Given the description of an element on the screen output the (x, y) to click on. 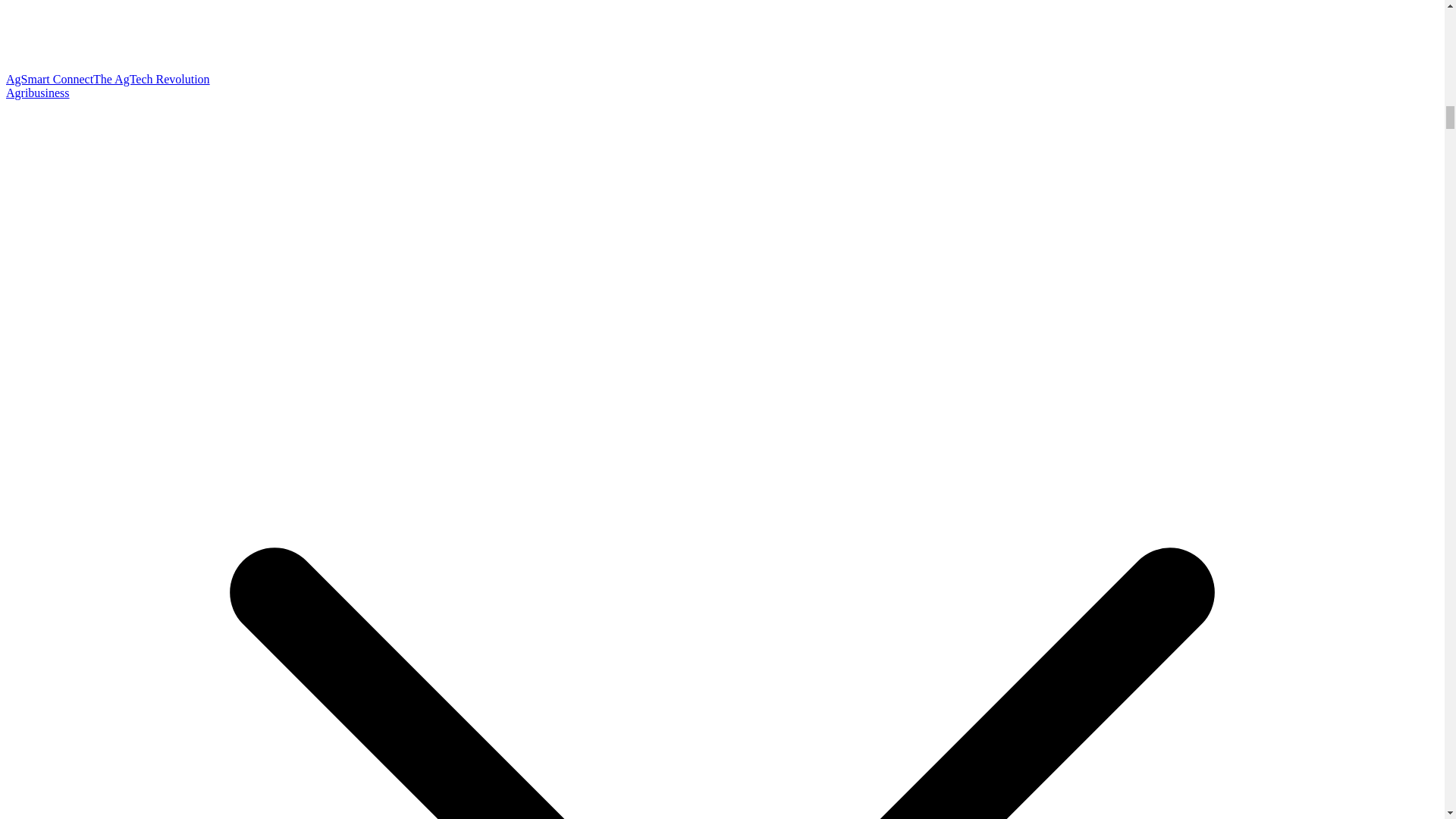
The AgTech Revolution (151, 78)
AgSmart Connect (49, 78)
Agribusiness (37, 92)
